Given the description of an element on the screen output the (x, y) to click on. 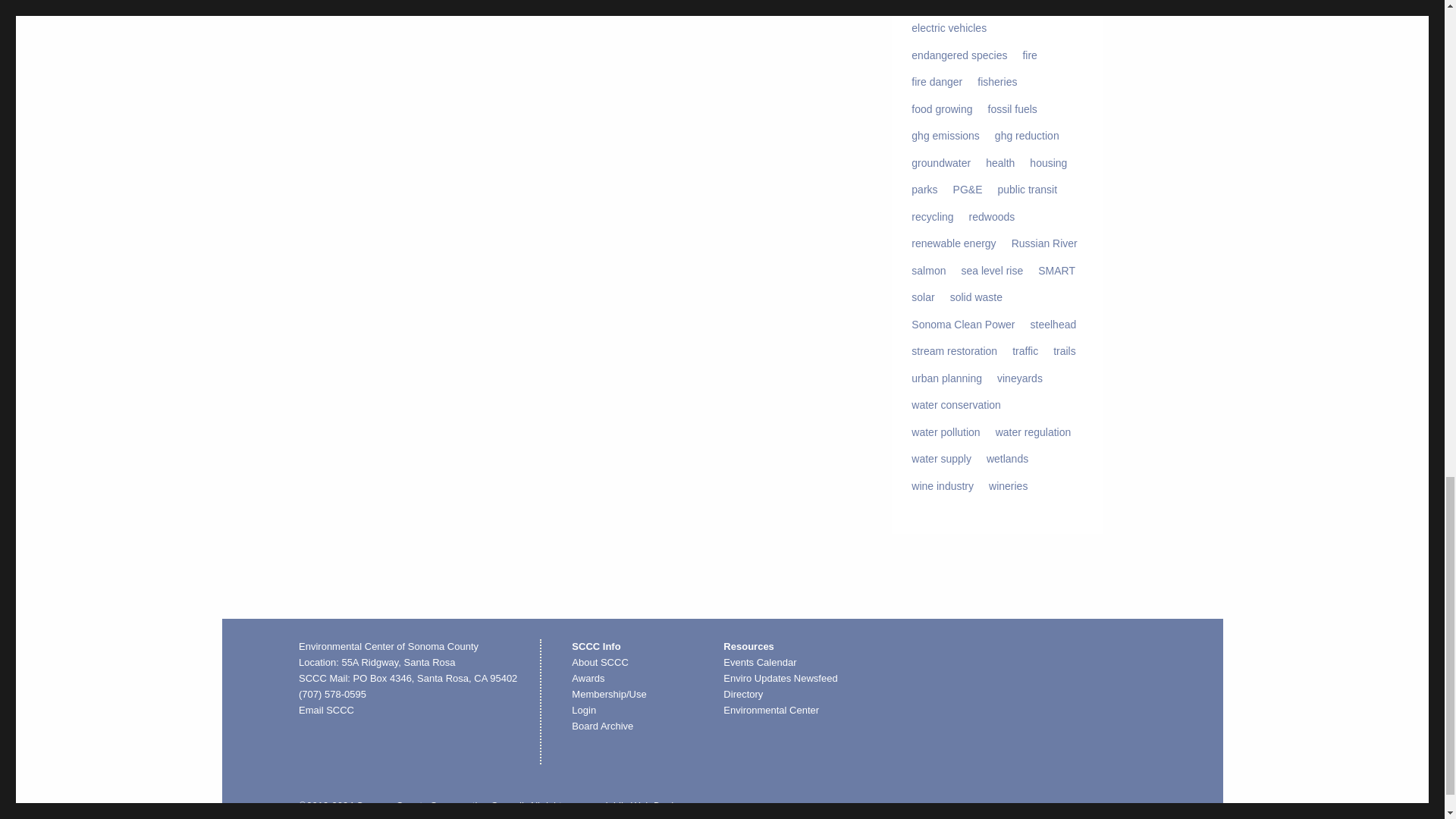
Delta (924, 5)
drought (1045, 5)
development (982, 5)
